Given the description of an element on the screen output the (x, y) to click on. 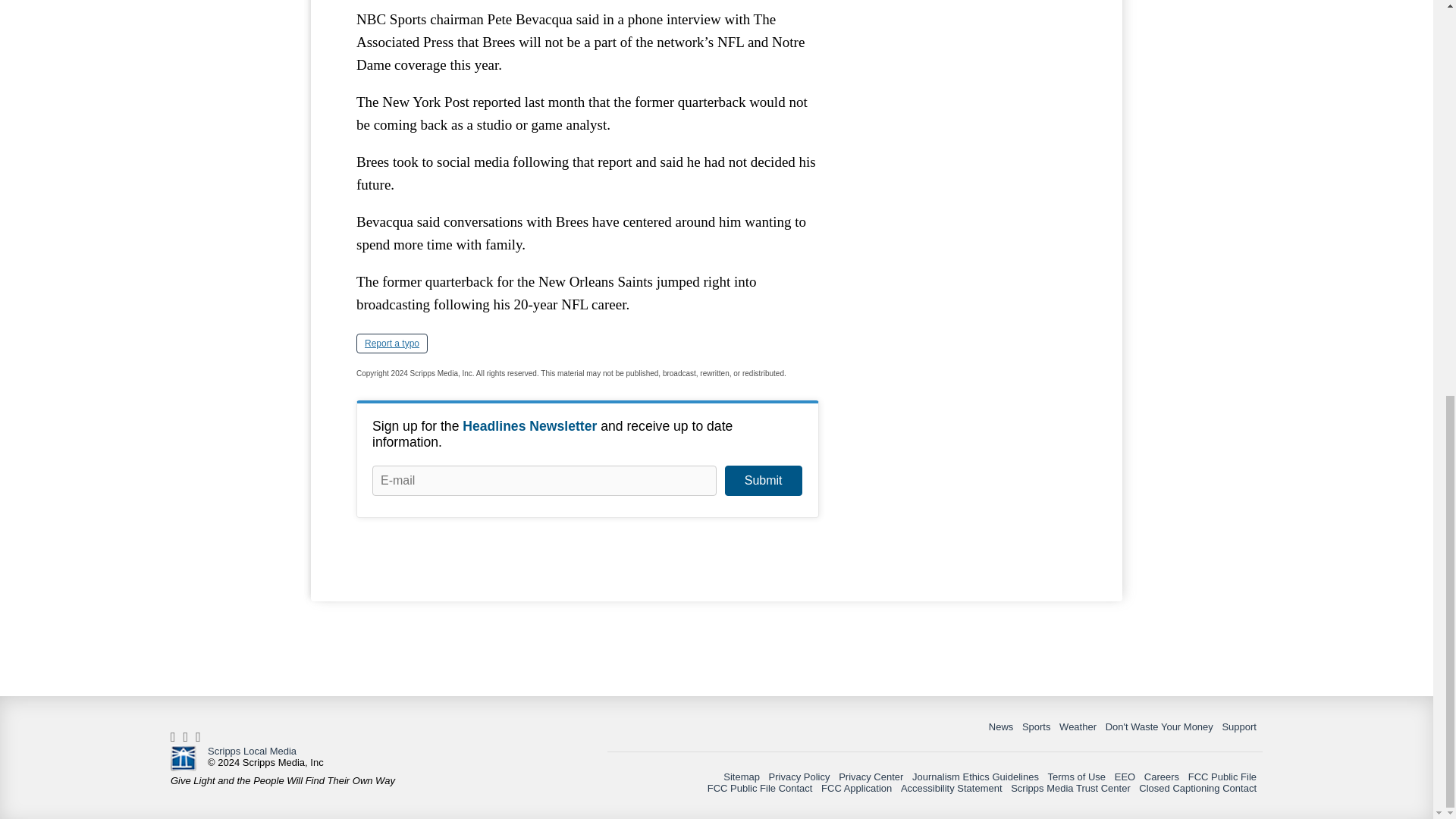
Submit (763, 481)
